Given the description of an element on the screen output the (x, y) to click on. 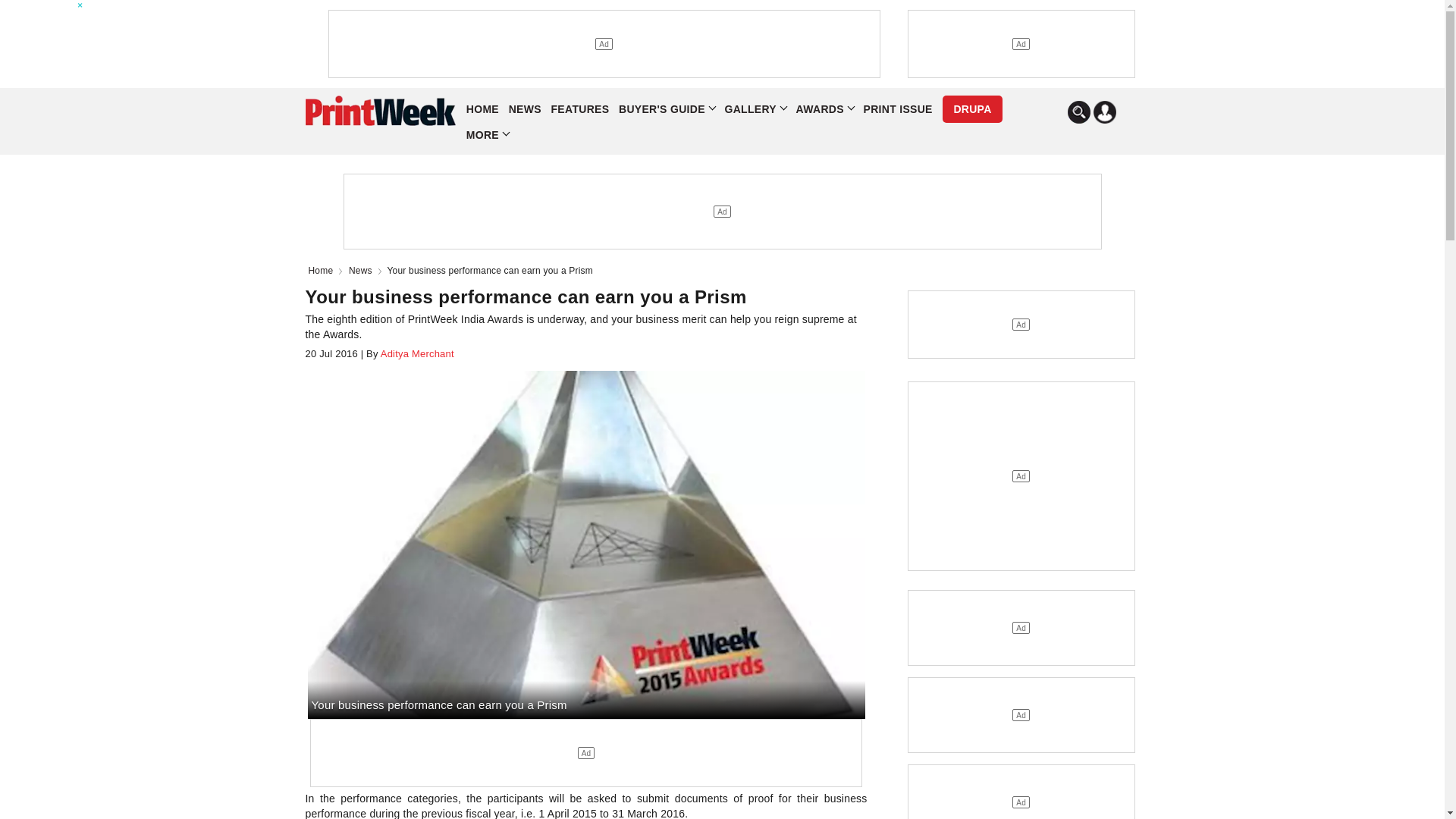
Drupa (971, 108)
Aditya Merchant (416, 353)
Search In PrintWeek India Website (1078, 111)
GALLERY (754, 109)
PRINT ISSUE (897, 109)
BUYER'S GUIDE (666, 109)
DRUPA (971, 108)
NEWS (524, 109)
HOME (482, 109)
PrintWeek Logo (379, 110)
